Given the description of an element on the screen output the (x, y) to click on. 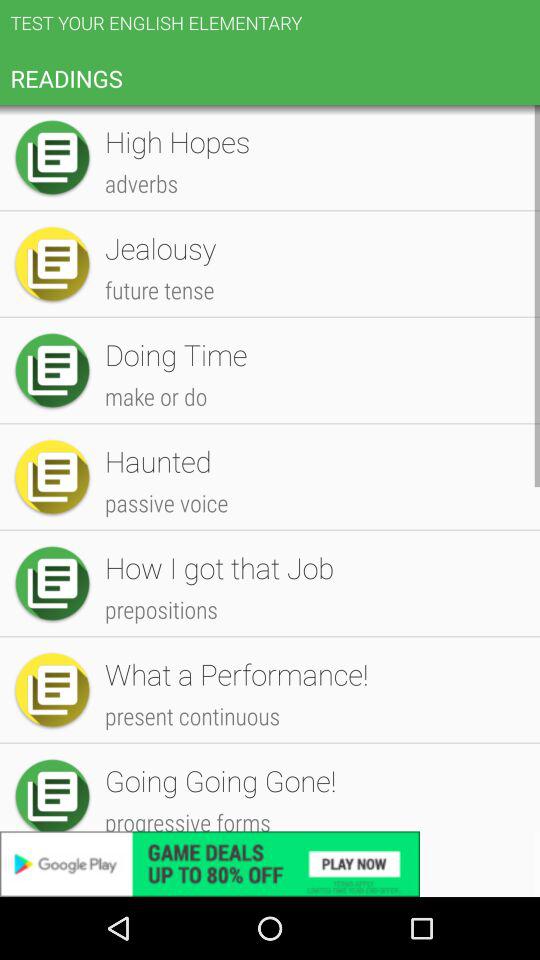
click item below the hangman item (311, 705)
